Given the description of an element on the screen output the (x, y) to click on. 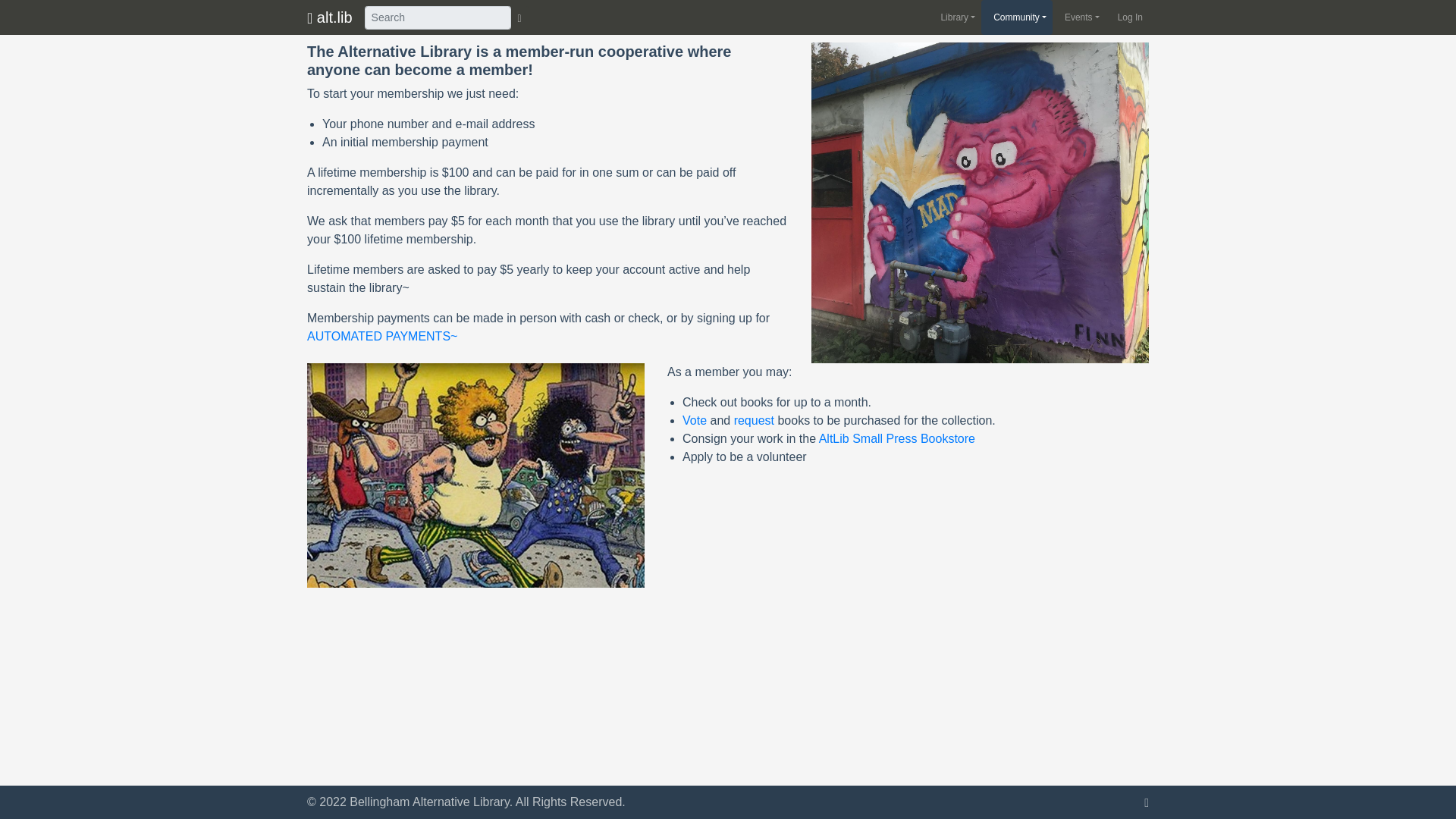
Log In (1126, 17)
alt.lib (329, 17)
Vote (694, 420)
AltLib Small Press Bookstore (896, 438)
Events (1078, 17)
alt.lib (329, 17)
Library (954, 17)
Events (1078, 17)
Community (1016, 17)
request (753, 420)
